Given the description of an element on the screen output the (x, y) to click on. 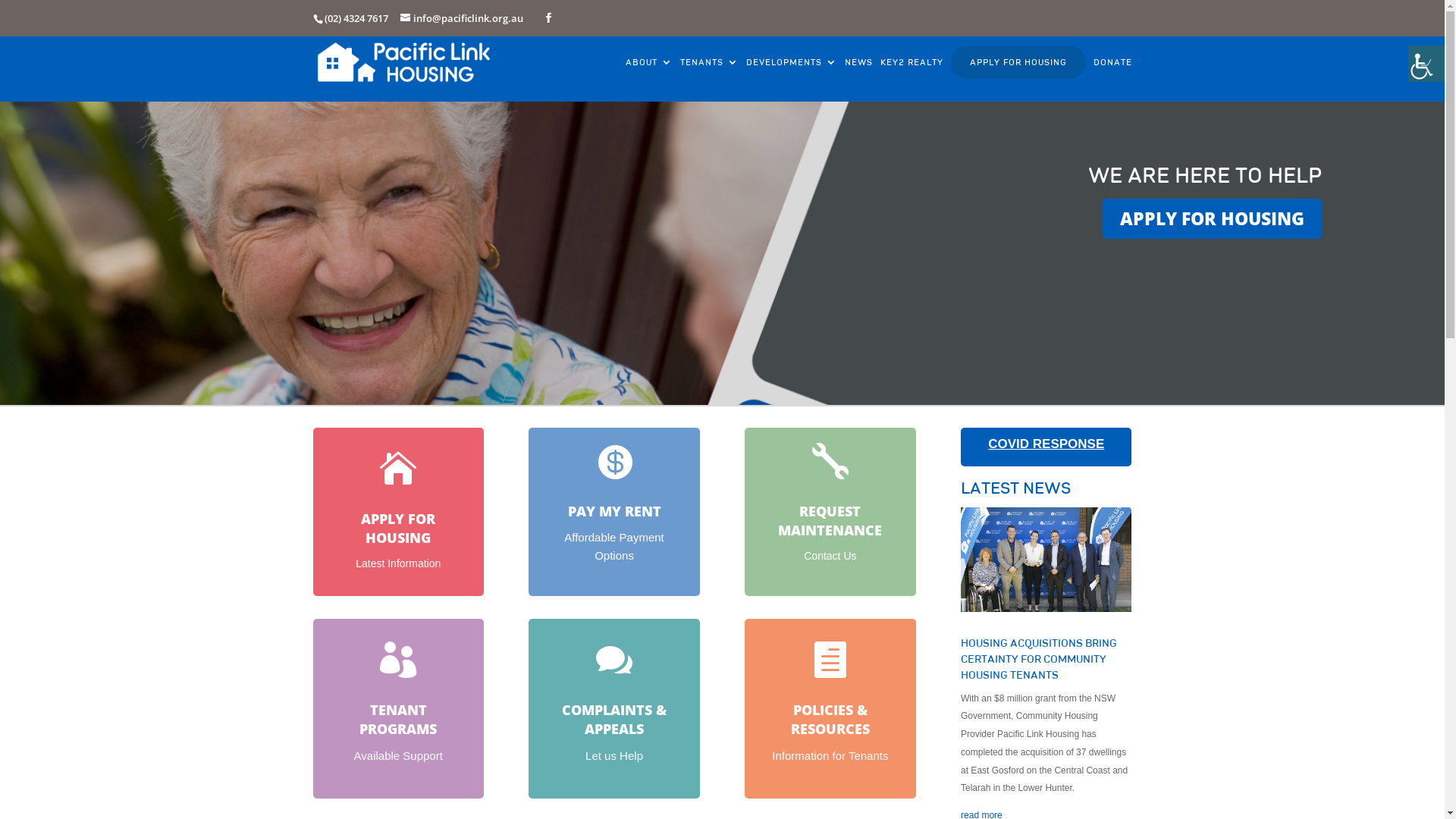
Accessibility Helper sidebar Element type: hover (1426, 63)
NEWS Element type: text (858, 78)
APPLY FOR HOUSING Element type: text (397, 527)
APPLY FOR HOUSING Element type: text (1017, 61)
COMPLAINTS & APPEALS Element type: text (613, 718)
REQUEST MAINTENANCE Element type: text (829, 520)
WE ARE HERE TO HELP Element type: text (1204, 174)
APPLY FOR HOUSING Element type: text (1211, 218)
Contact Us Element type: text (829, 555)
TENANTS Element type: text (708, 78)
ABOUT Element type: text (647, 78)
info@pacificlink.org.au Element type: text (461, 18)
Available Support Element type: text (398, 755)
DEVELOPMENTS Element type: text (791, 78)
POLICIES & RESOURCES Element type: text (829, 718)
TENANT PROGRAMS Element type: text (397, 718)
COVID RESPONSE Element type: text (1046, 443)
Latest Information Element type: text (397, 563)
Information for Tenants Element type: text (829, 755)
Let us Help Element type: text (614, 755)
DONATE Element type: text (1112, 78)
KEY2 REALTY Element type: text (910, 78)
PAY MY RENT Element type: text (614, 511)
